Given the description of an element on the screen output the (x, y) to click on. 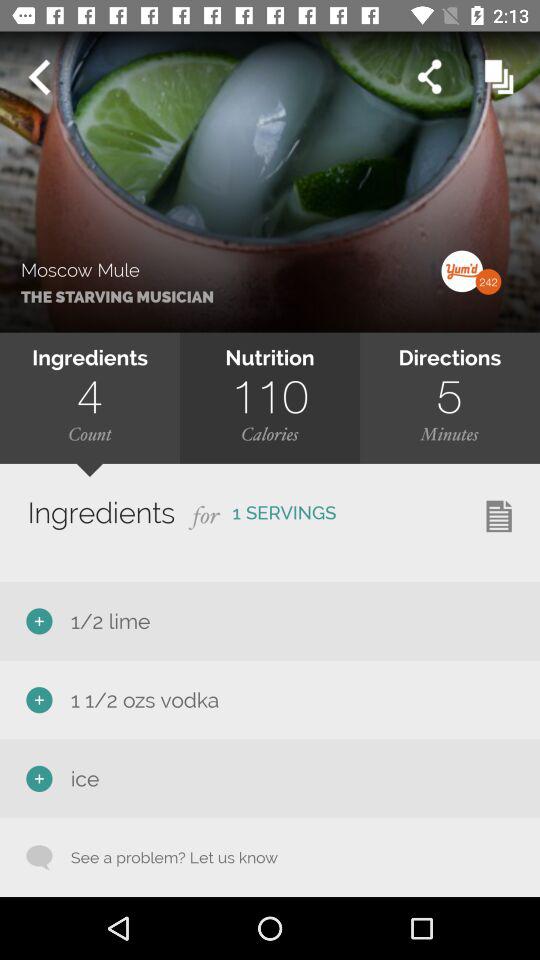
jump until the see a problem (164, 857)
